Given the description of an element on the screen output the (x, y) to click on. 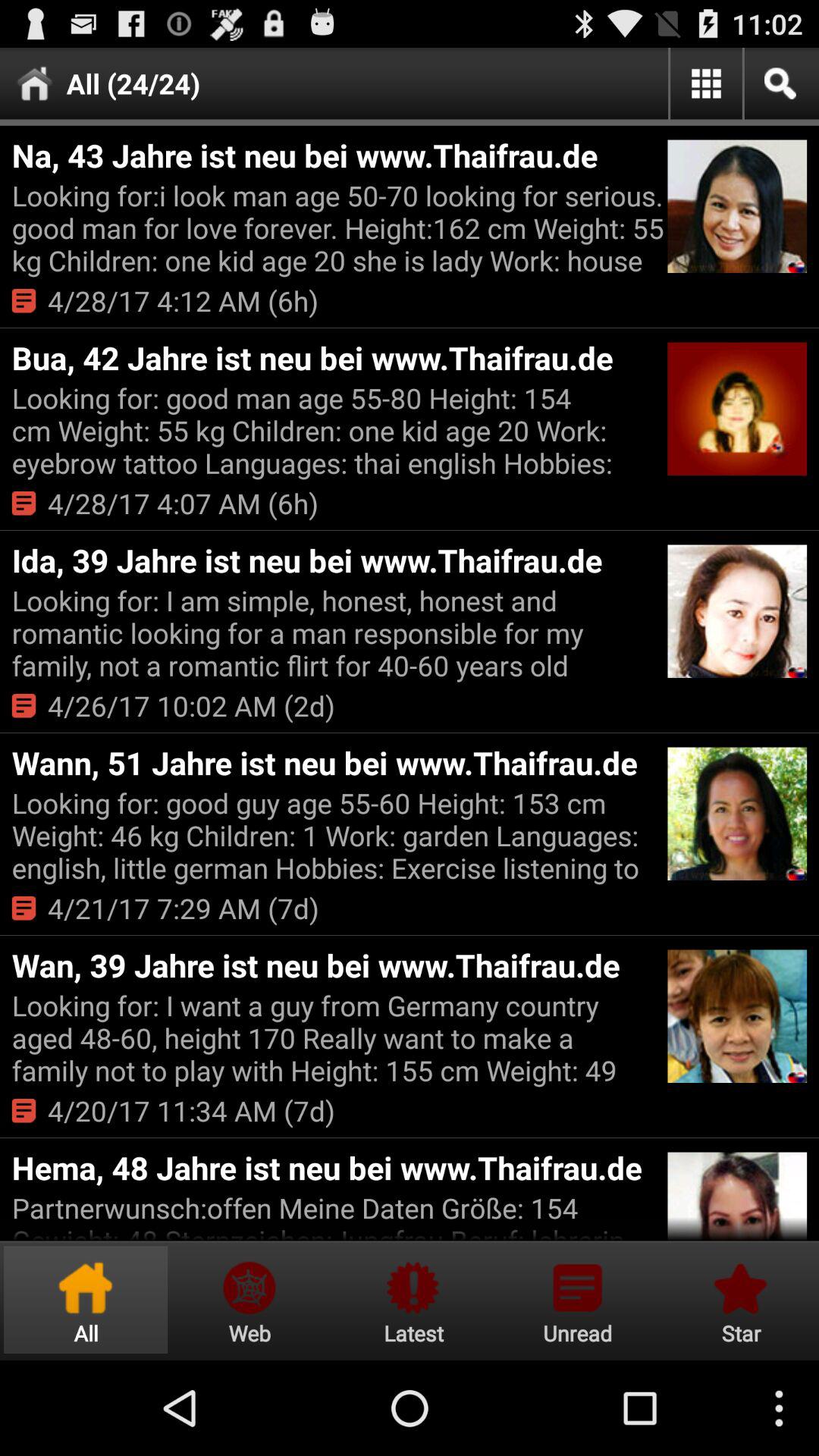
go to all home (85, 1299)
